Given the description of an element on the screen output the (x, y) to click on. 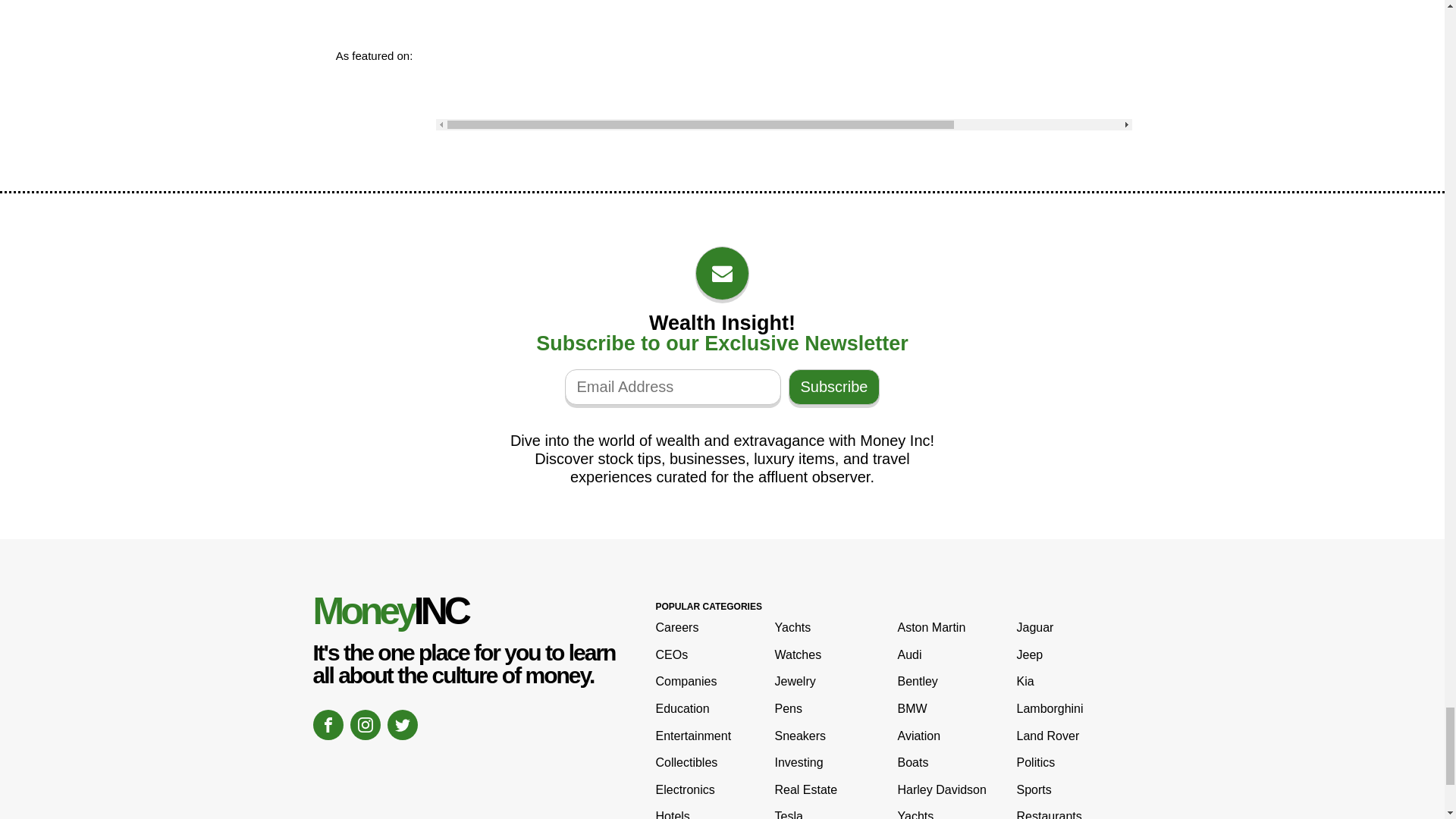
Subscribe (834, 386)
